Given the description of an element on the screen output the (x, y) to click on. 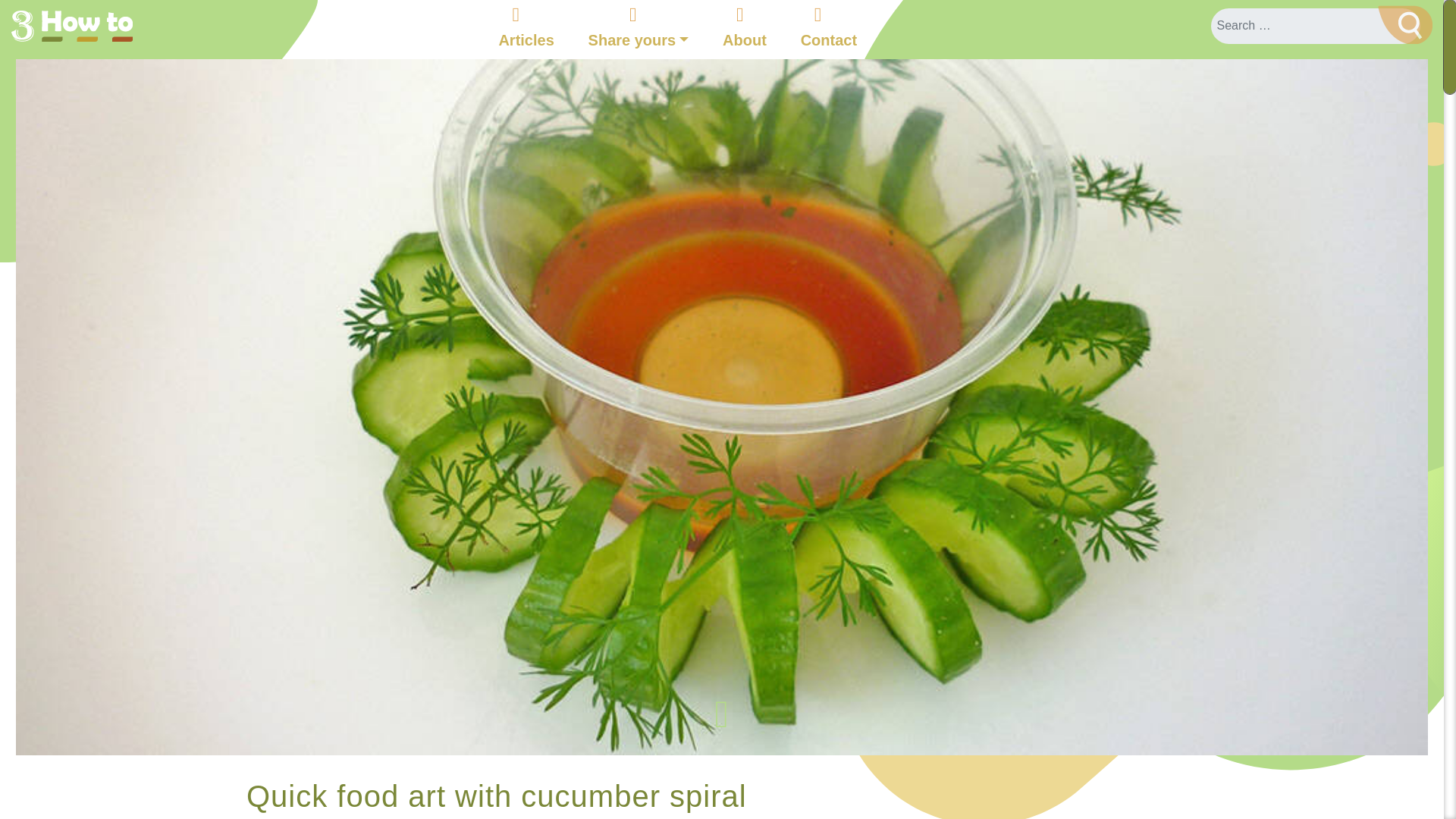
Search (1404, 24)
Search (1404, 24)
About (744, 38)
Share yours (638, 38)
Search (1404, 24)
Share yours (638, 38)
Advertisement (1046, 798)
Articles (525, 38)
Contact (828, 38)
Search for: (1316, 25)
